Given the description of an element on the screen output the (x, y) to click on. 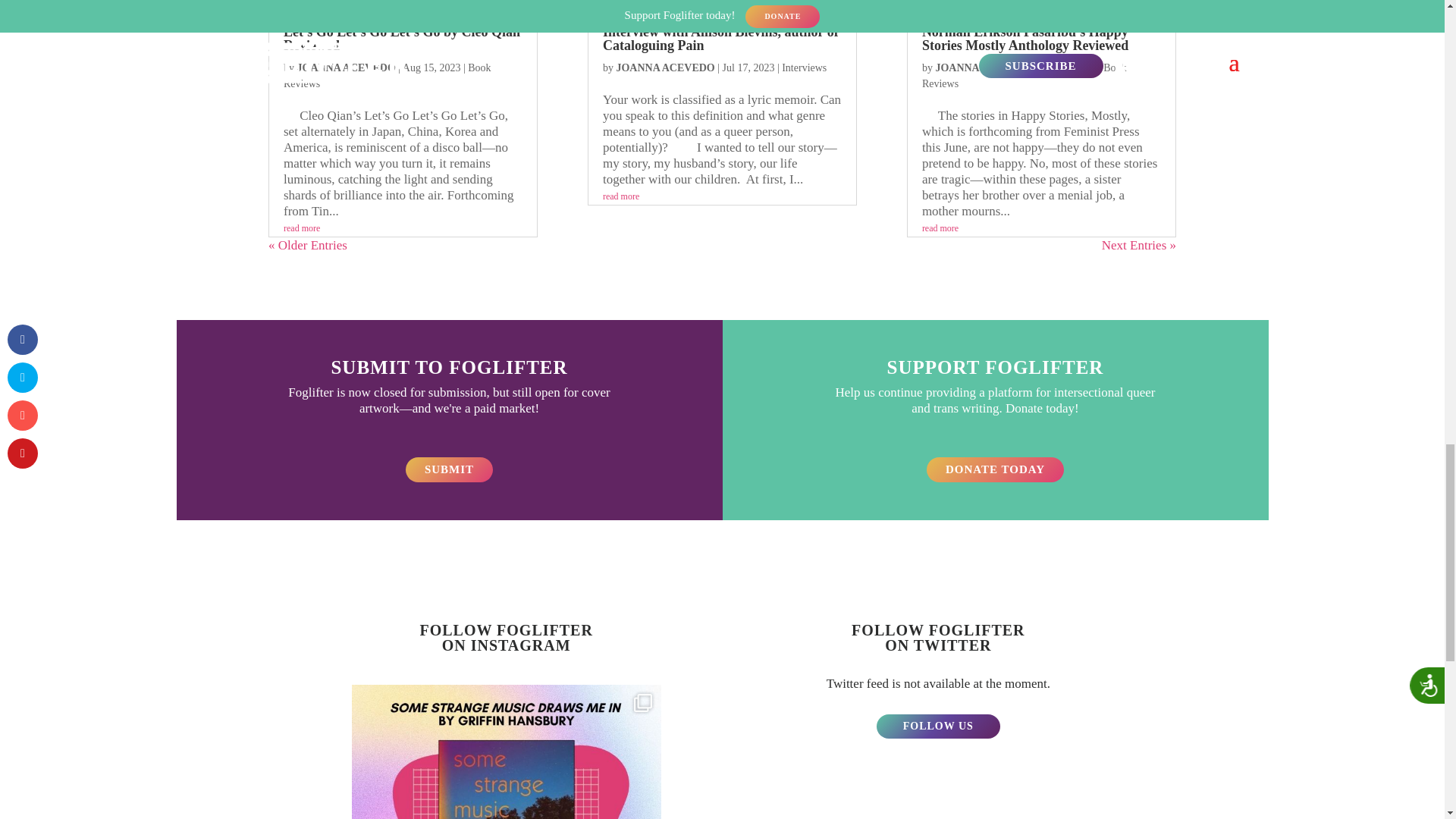
Posts by Joanna Acevedo (664, 67)
Posts by Joanna Acevedo (983, 67)
Posts by Joanna Acevedo (346, 67)
